Given the description of an element on the screen output the (x, y) to click on. 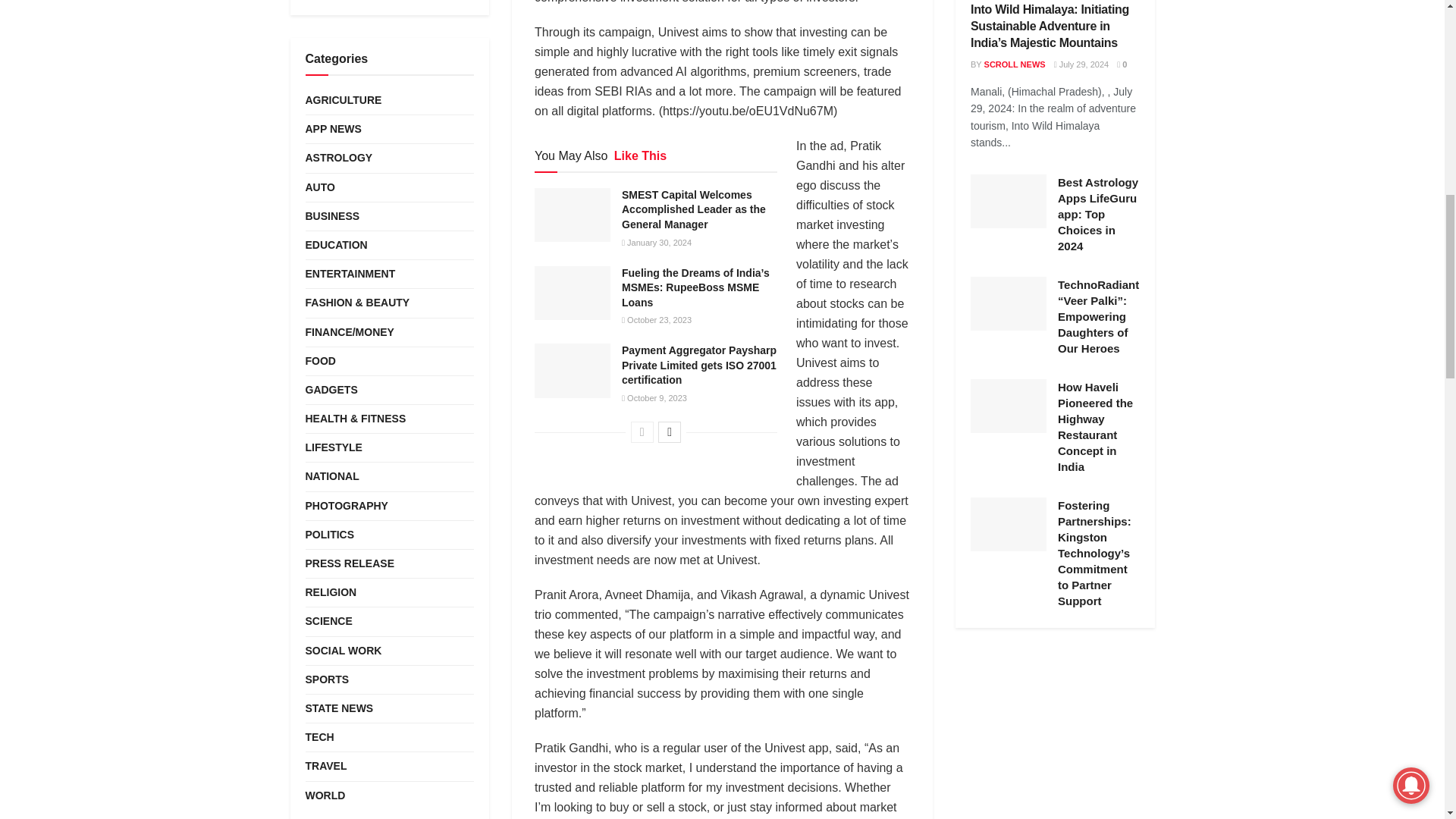
Next (669, 432)
Previous (641, 432)
